Given the description of an element on the screen output the (x, y) to click on. 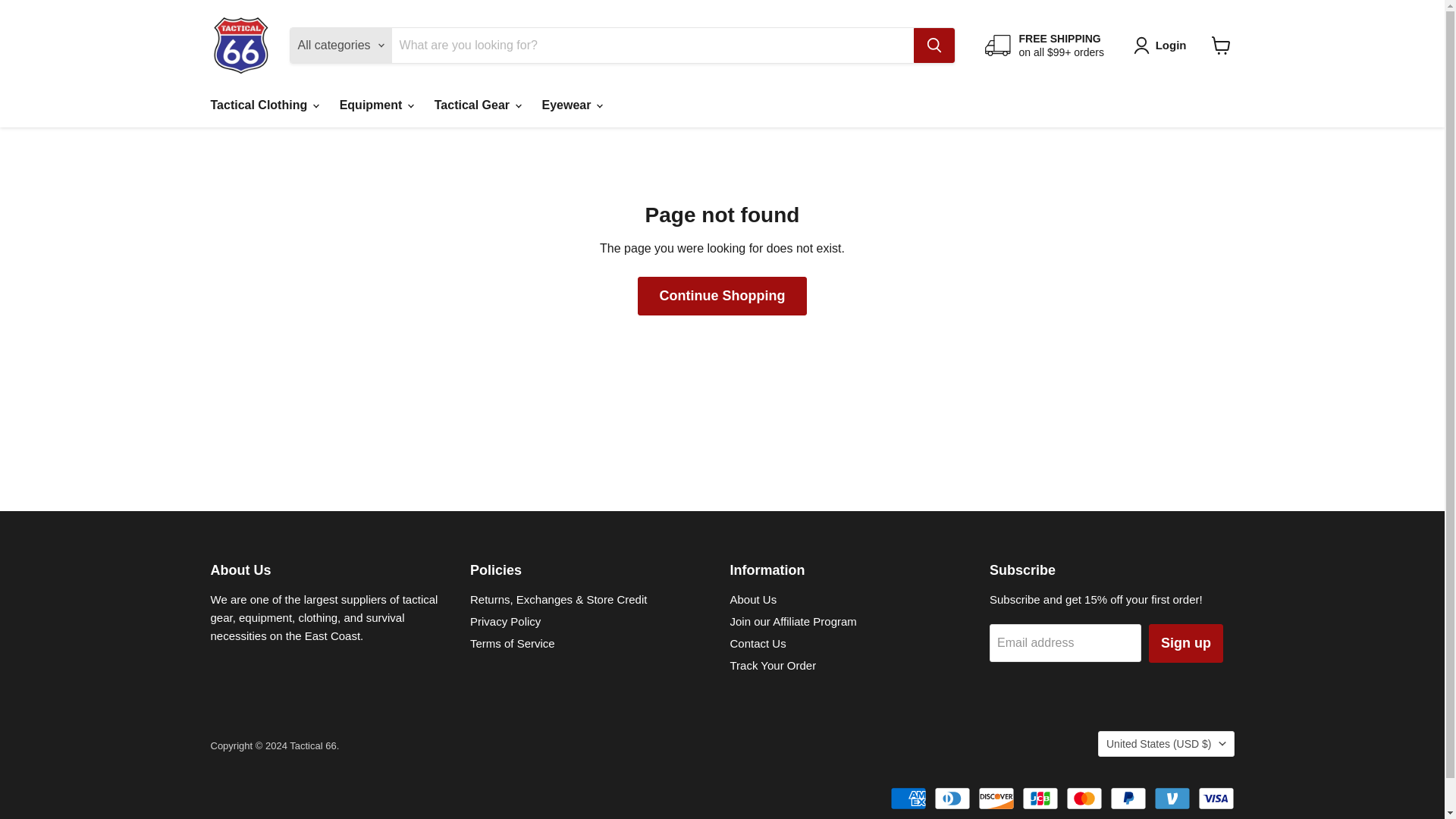
Venmo (1172, 798)
Mastercard (1083, 798)
American Express (907, 798)
Diners Club (952, 798)
Discover (996, 798)
PayPal (1128, 798)
Login (1163, 45)
JCB (1040, 798)
View cart (1221, 45)
Visa (1216, 798)
